Given the description of an element on the screen output the (x, y) to click on. 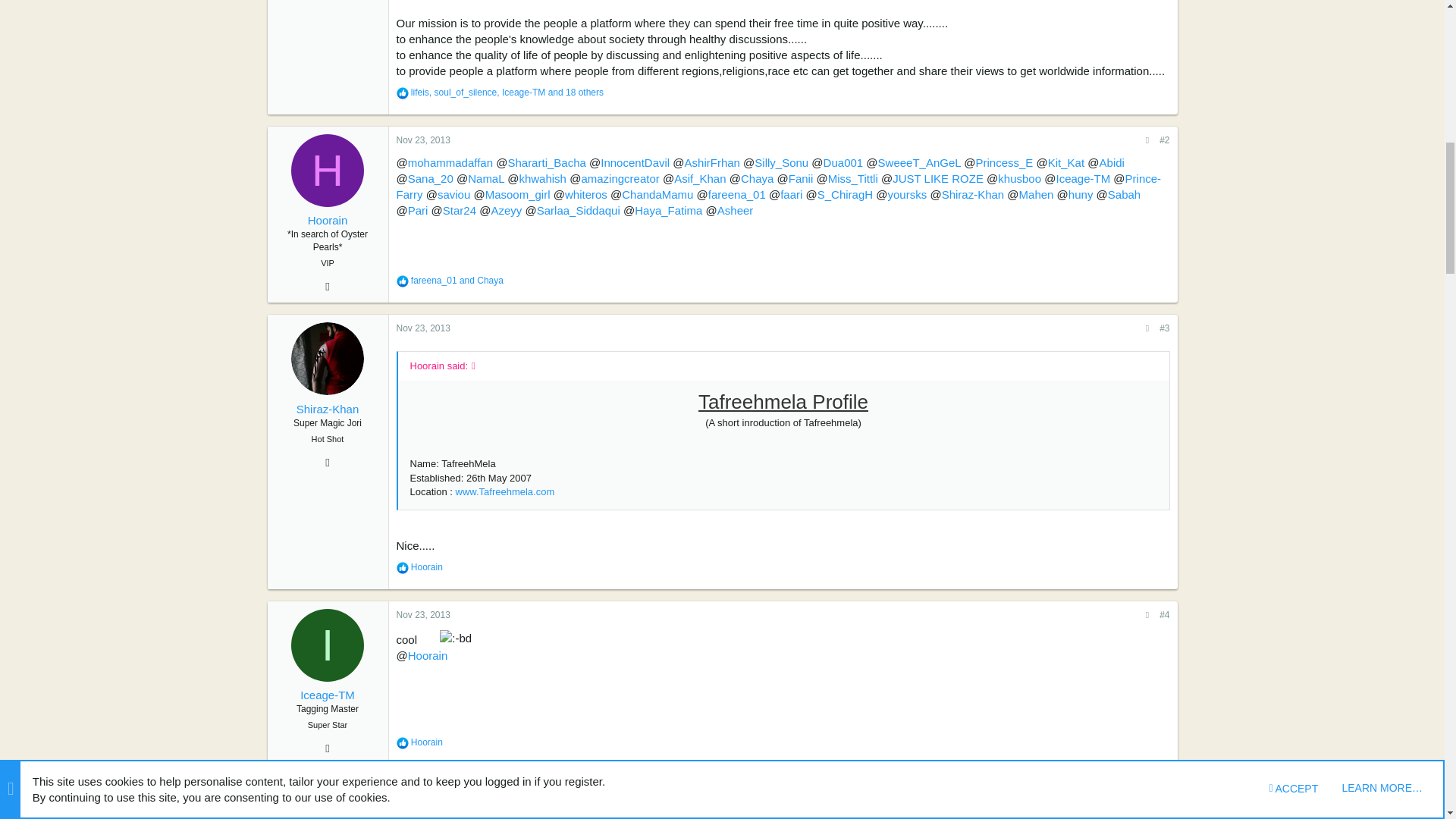
Nov 23, 2013 at 6:51 PM (422, 140)
Like (401, 281)
Like (401, 92)
